Given the description of an element on the screen output the (x, y) to click on. 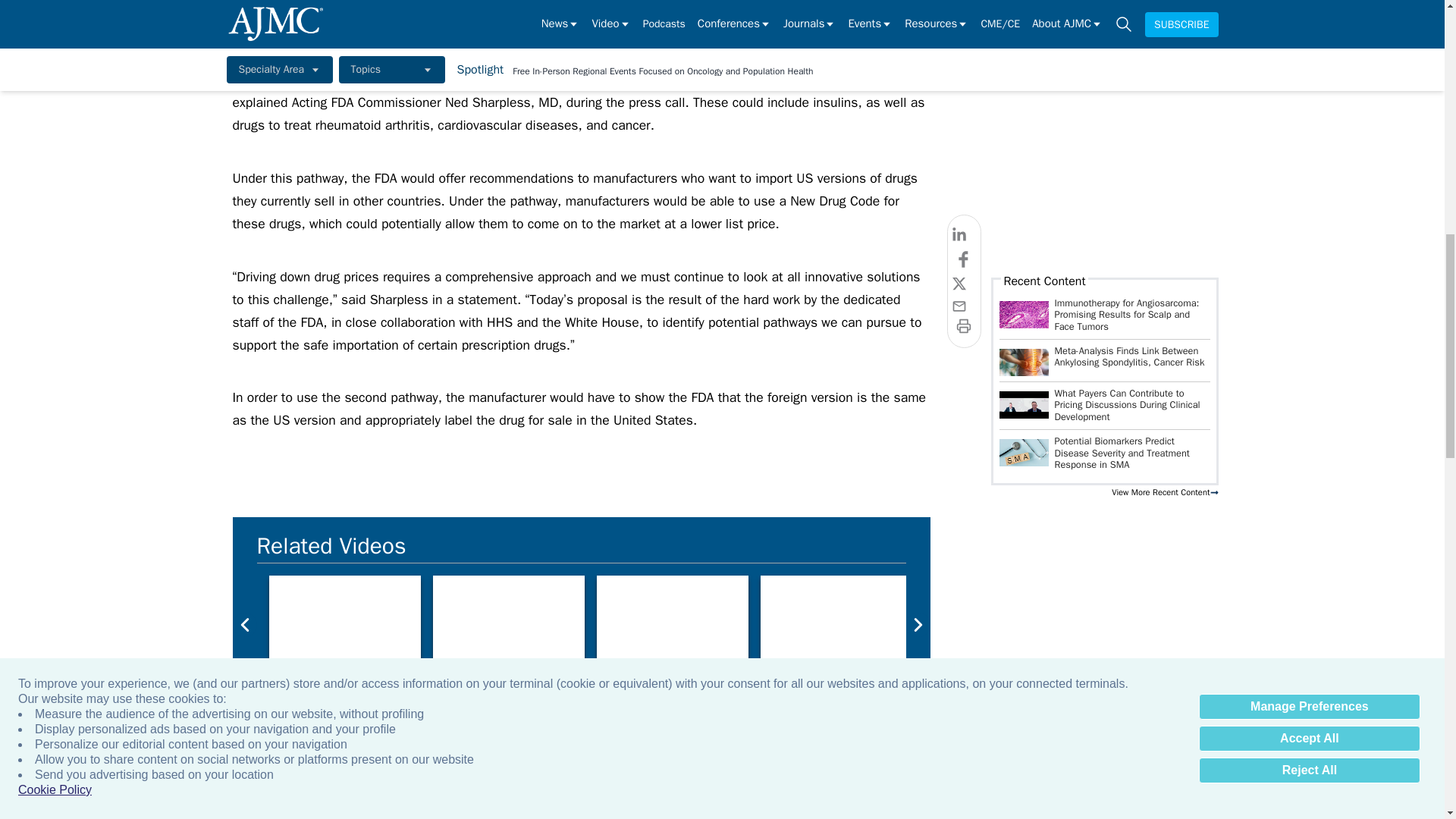
Tiara Green, MSEd (671, 617)
Jason Porter, MD, an expert on lung cancer (1326, 617)
Panagis Galiatsatos, MD, MHS, an expert on bronchiectasis (999, 617)
Jason Porter, MD, an expert on lung cancer (1163, 617)
Panagis Galiatsatos, MD, MHS, an expert on bronchiectasis (835, 617)
Fulling and Cournoyer (343, 617)
